Given the description of an element on the screen output the (x, y) to click on. 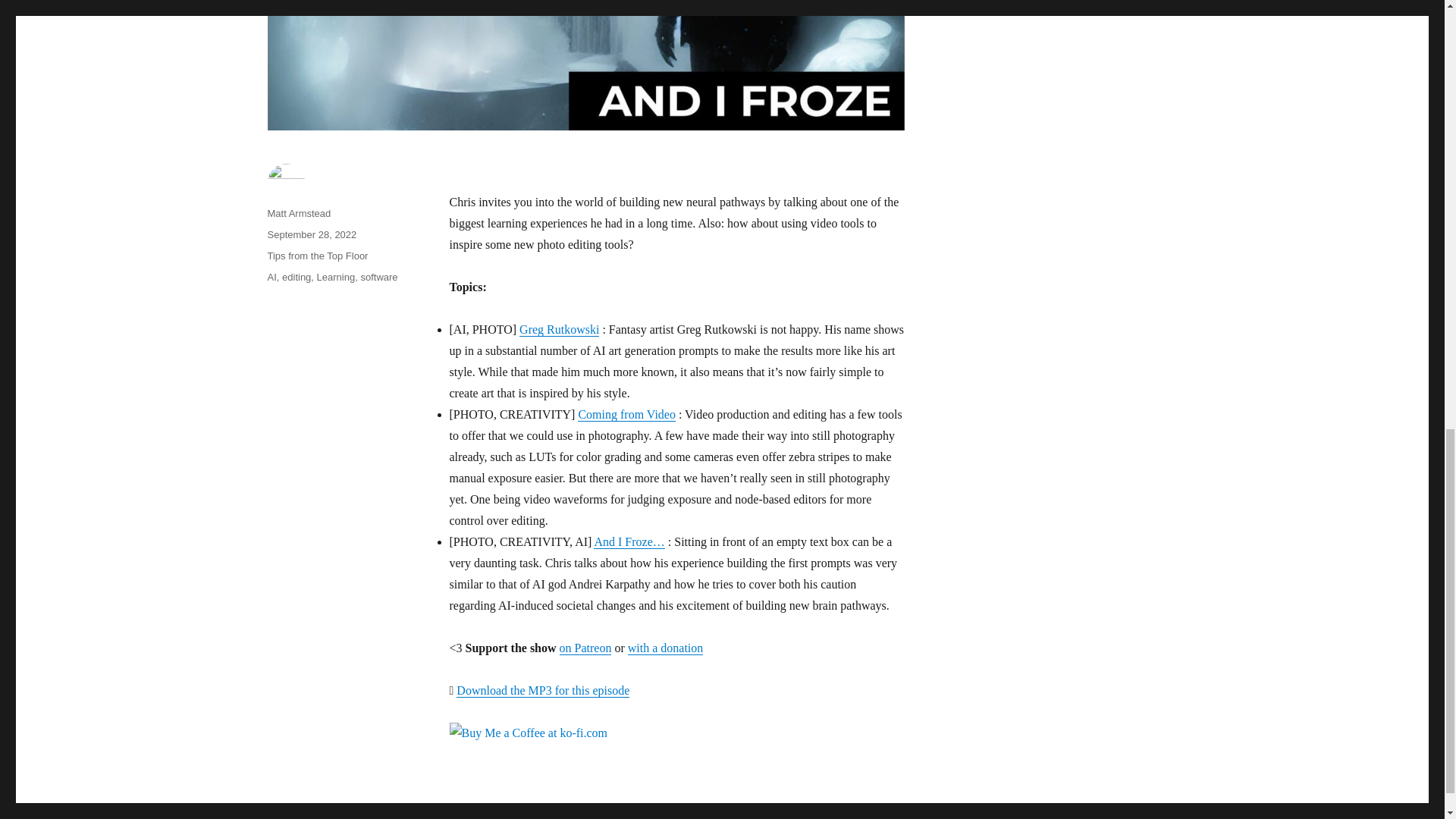
on Patreon (585, 647)
software (378, 276)
Tips from the Top Floor (317, 255)
Learning (336, 276)
Matt Armstead (298, 213)
September 28, 2022 (311, 234)
with a donation (665, 647)
Coming from Video (626, 413)
Greg Rutkowski (558, 328)
Download the MP3 for this episode (542, 689)
